Given the description of an element on the screen output the (x, y) to click on. 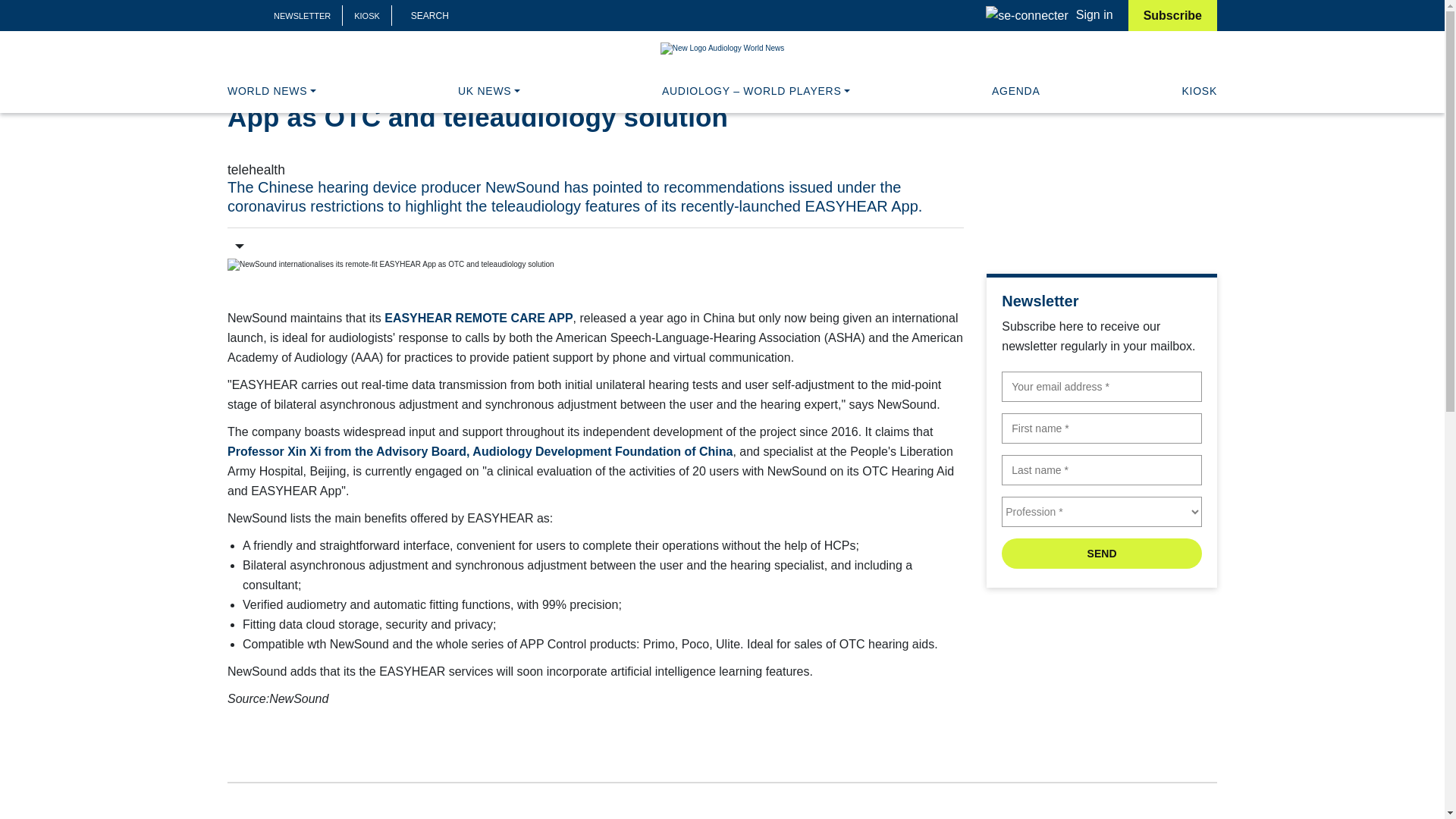
WORLD NEWS (271, 91)
NEWSLETTER (301, 15)
Subscribe (1172, 15)
Send (1101, 553)
Sign in (1048, 14)
KIOSK (366, 15)
